Given the description of an element on the screen output the (x, y) to click on. 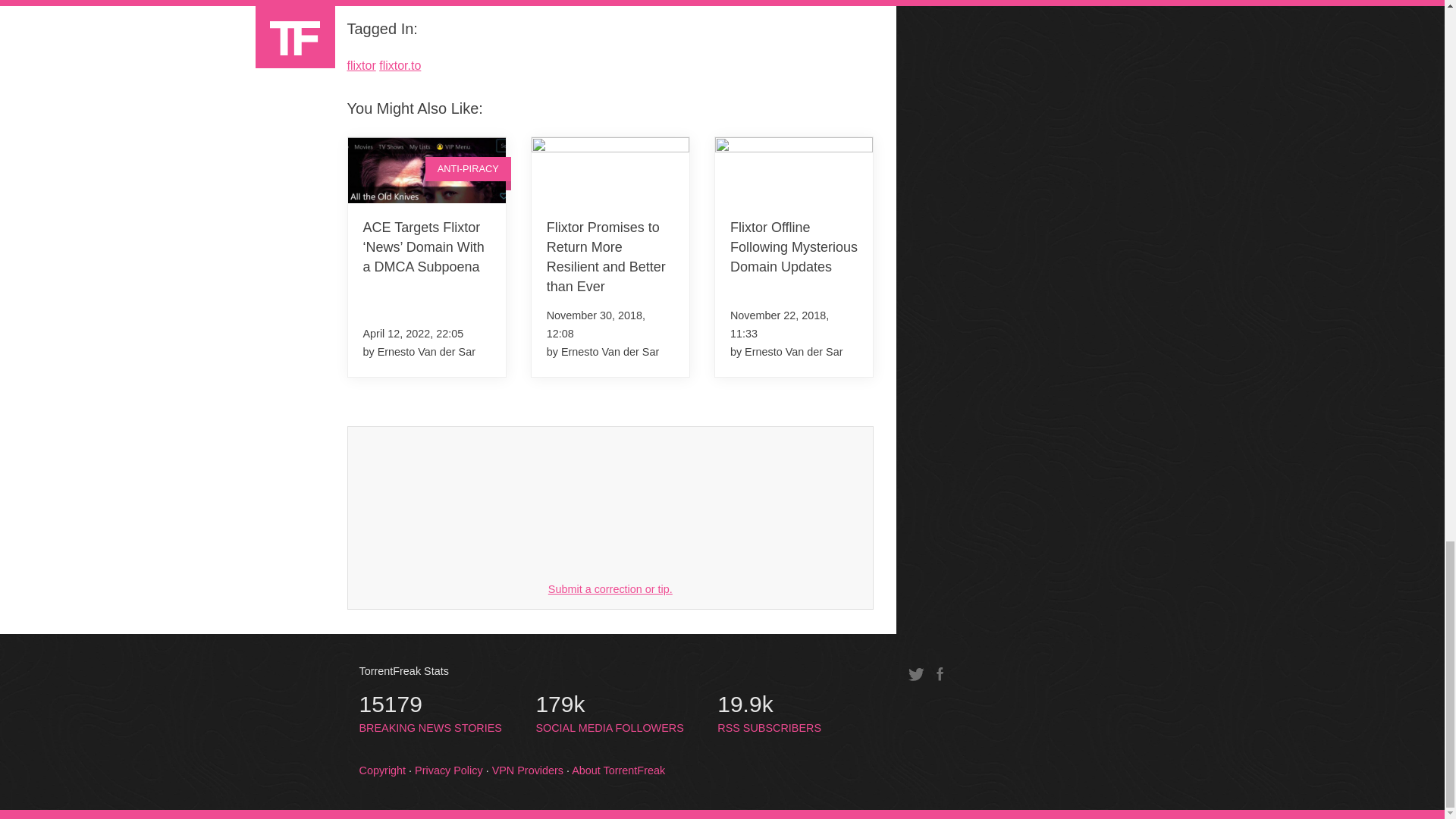
Submit a correction or tip. (610, 589)
flixtor (430, 713)
flixtor.to (361, 65)
